Given the description of an element on the screen output the (x, y) to click on. 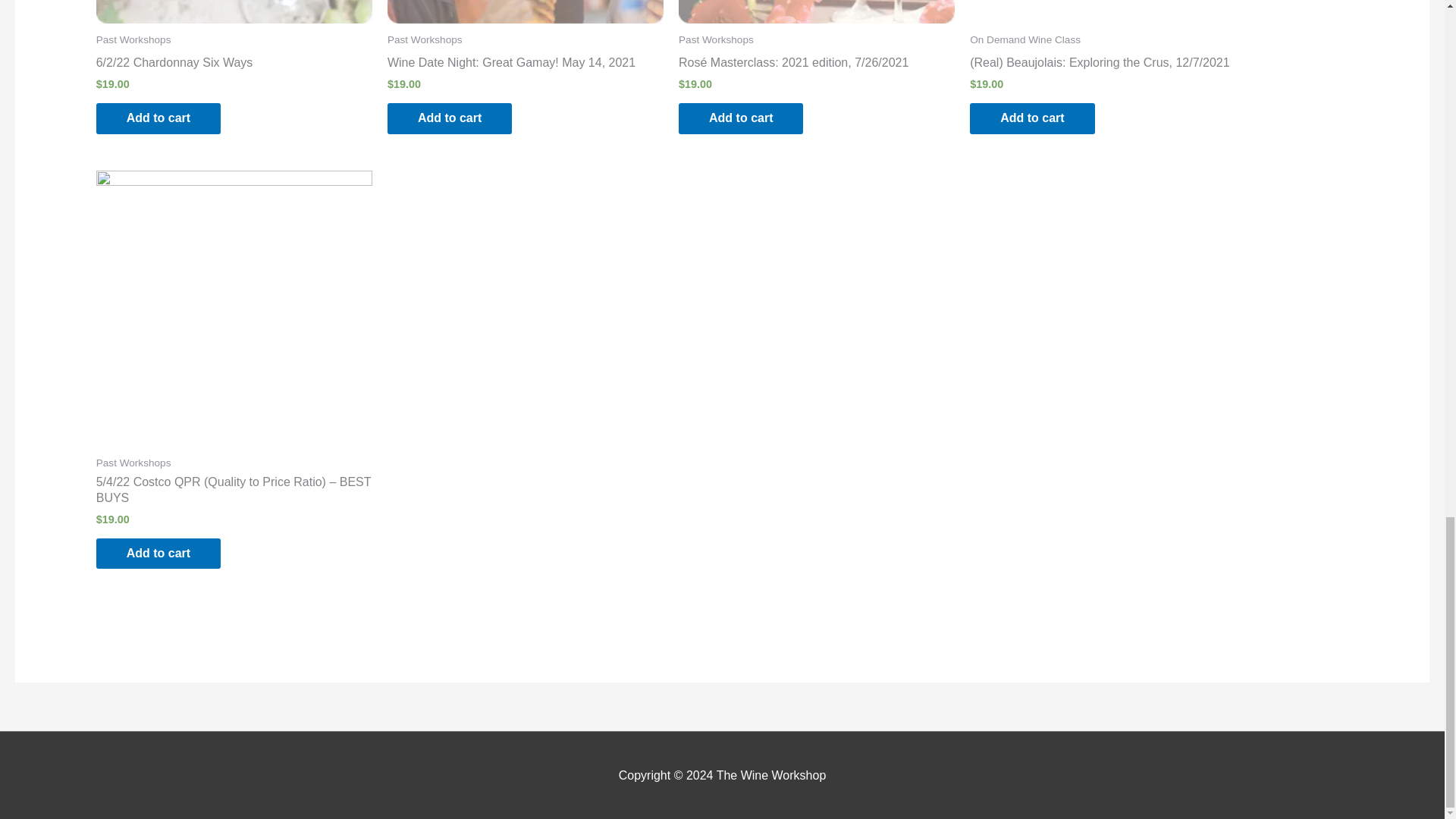
Add to cart (158, 553)
Add to cart (158, 118)
Wine Date Night: Great Gamay! May 14, 2021 (525, 65)
Add to cart (740, 118)
Add to cart (449, 118)
Add to cart (1031, 118)
